Given the description of an element on the screen output the (x, y) to click on. 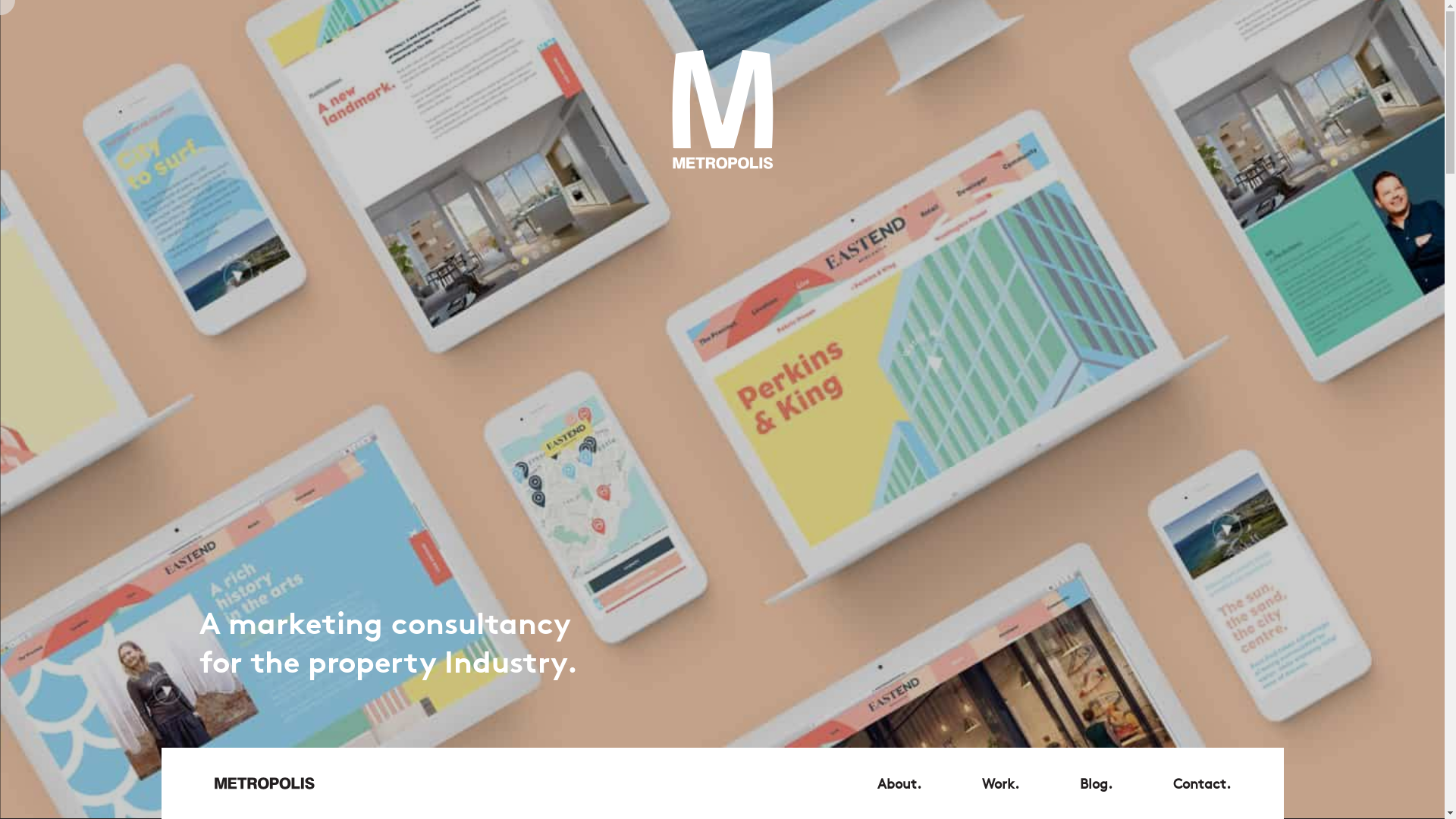
Contact Element type: text (1201, 783)
Work Element type: text (999, 783)
About Element type: text (898, 783)
Blog Element type: text (1095, 783)
